Given the description of an element on the screen output the (x, y) to click on. 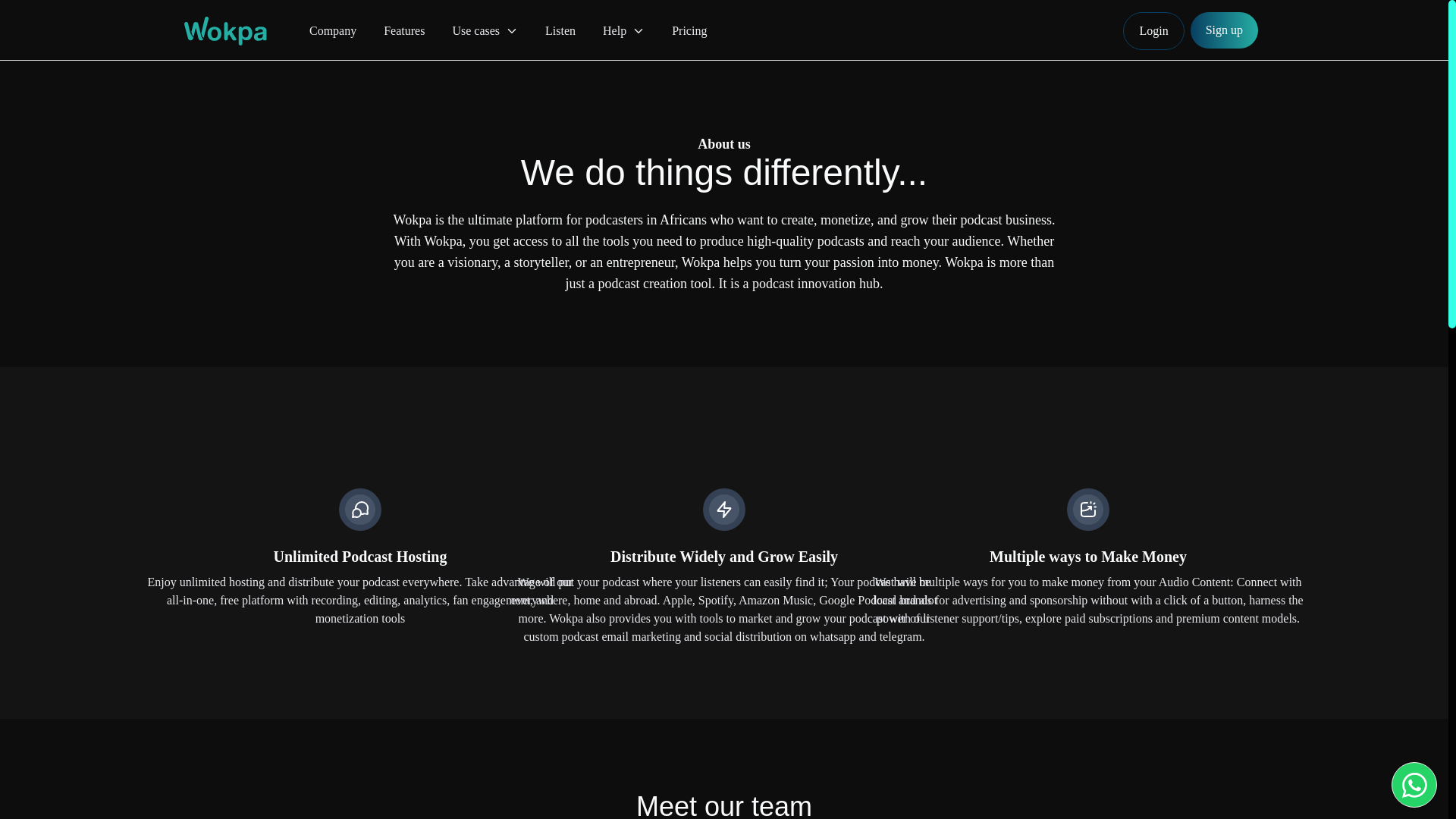
Sign up (1224, 30)
Help (623, 31)
Listen (559, 31)
Pricing (688, 31)
Company (332, 31)
Features (404, 31)
Login (1152, 30)
Use cases (484, 31)
